Given the description of an element on the screen output the (x, y) to click on. 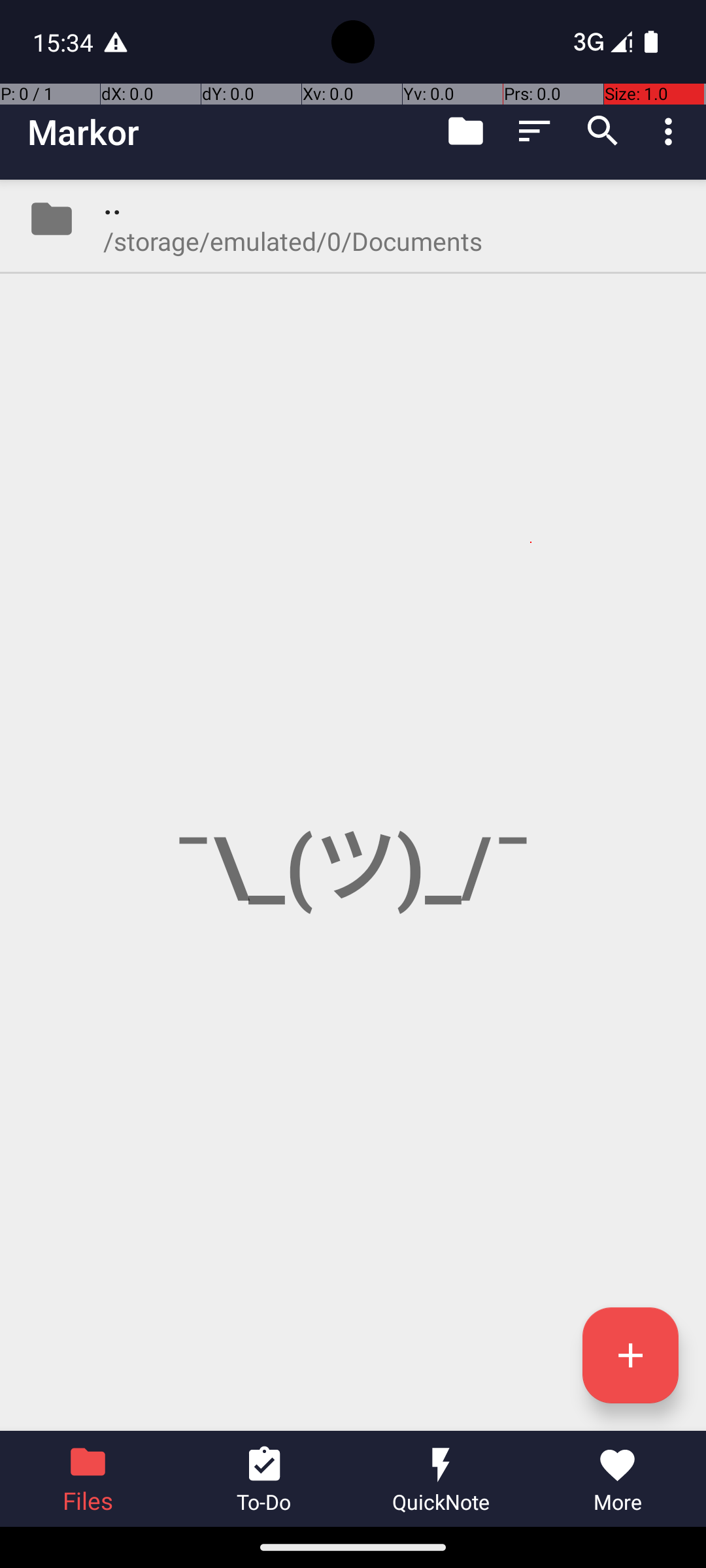
¯\_(ツ)_/¯ Element type: android.widget.TextView (353, 804)
